Given the description of an element on the screen output the (x, y) to click on. 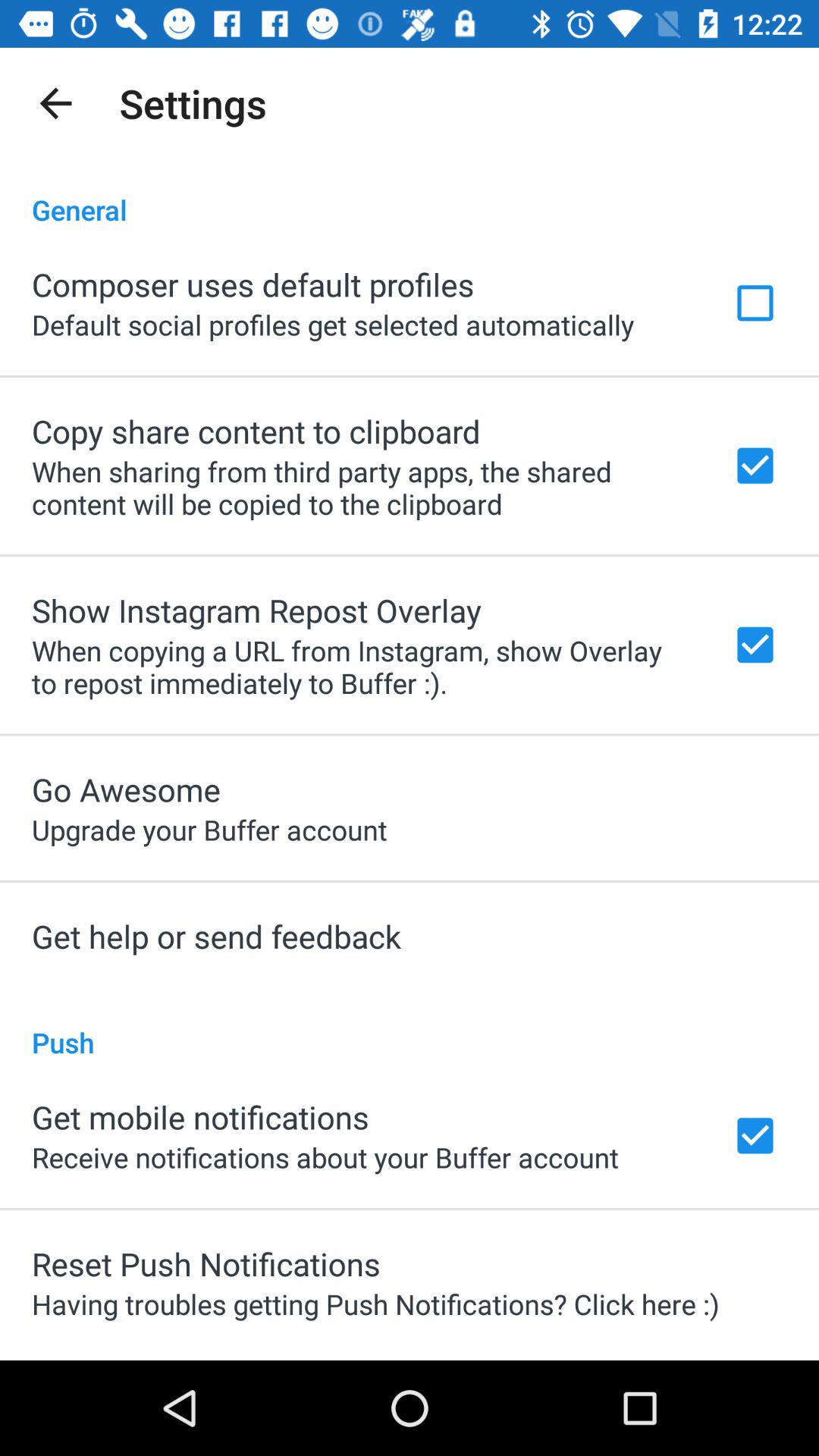
open icon above the general (55, 103)
